Given the description of an element on the screen output the (x, y) to click on. 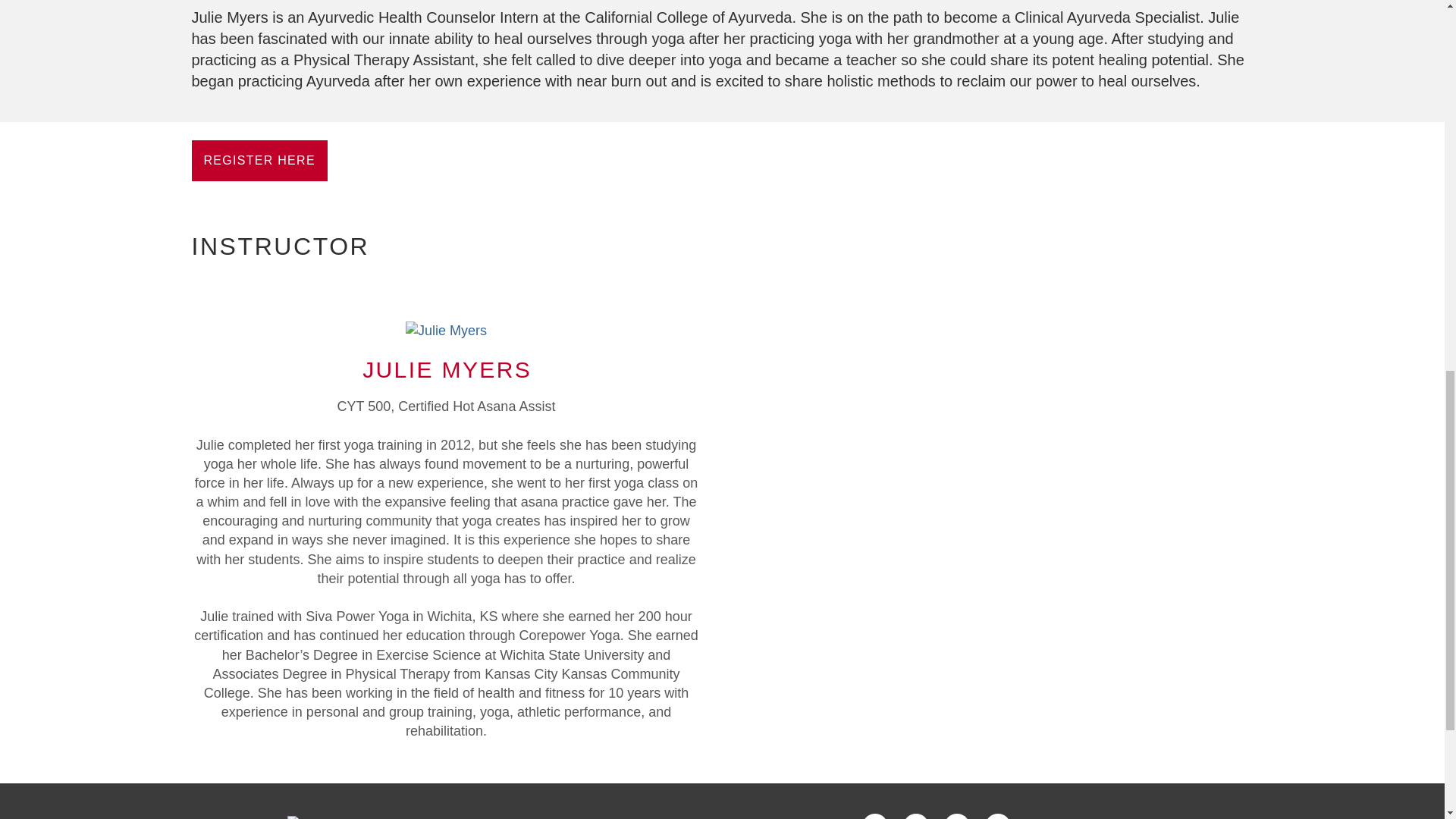
CYT 500, Certified Hot Asana Assist (446, 330)
JULIE MYERS (446, 369)
REGISTER HERE (258, 160)
